Given the description of an element on the screen output the (x, y) to click on. 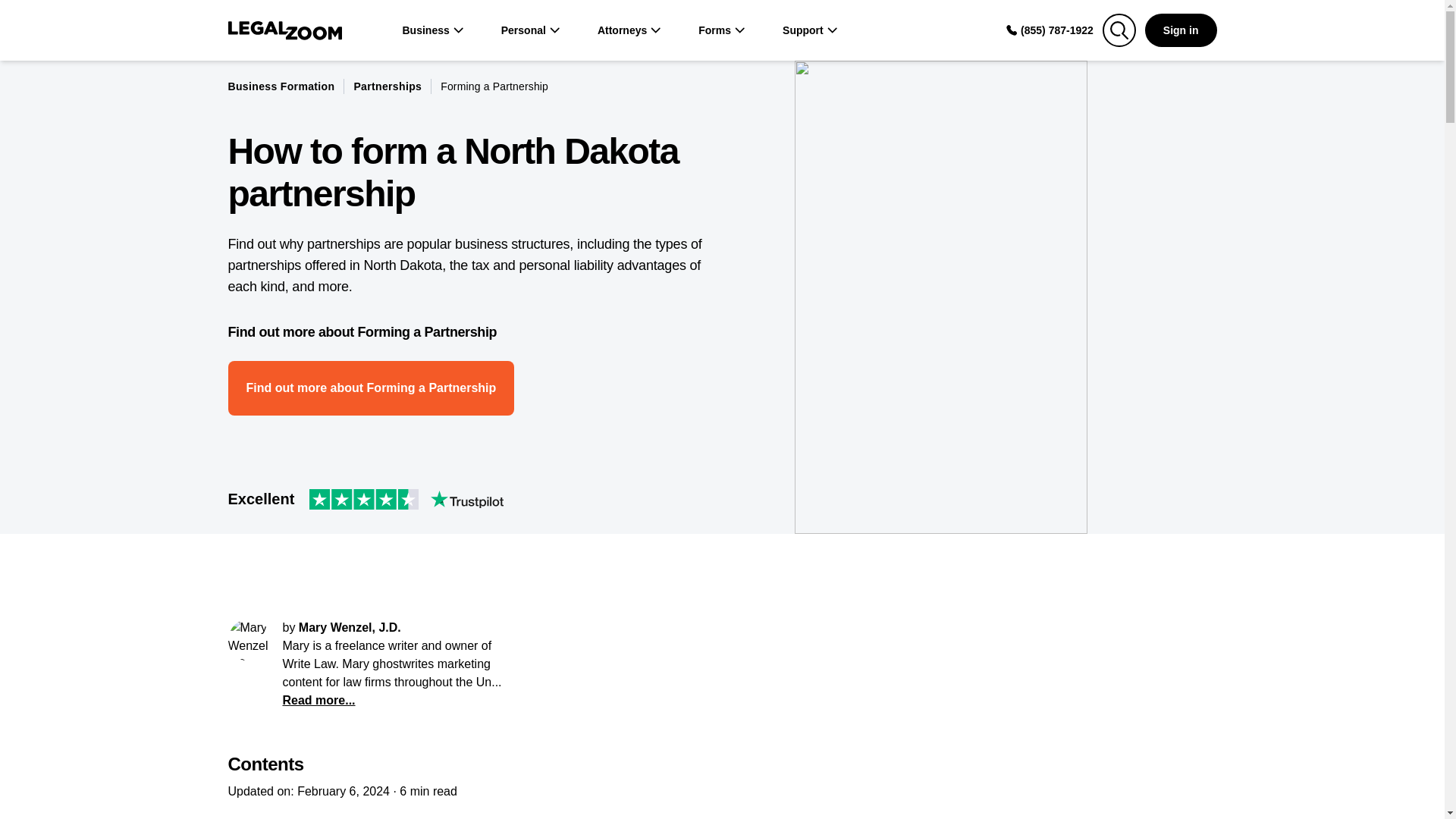
Find out more about Forming a Partnership (370, 388)
Forming a Partnership (494, 86)
Partnerships (387, 86)
Support (810, 30)
Business (432, 30)
Sign in (1180, 29)
Read more... (318, 699)
Business Formation (280, 86)
Attorneys (629, 30)
Personal (530, 30)
